Given the description of an element on the screen output the (x, y) to click on. 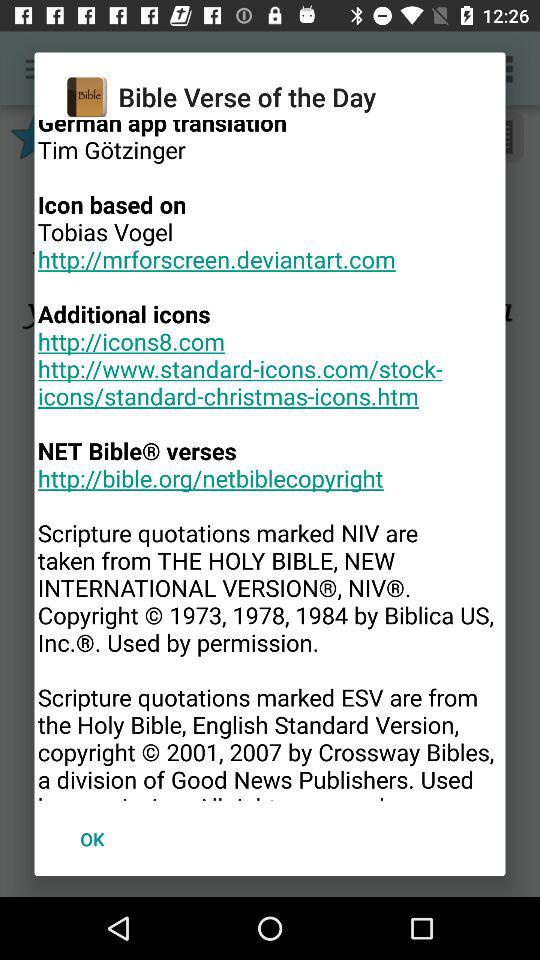
click icon at the center (269, 460)
